Given the description of an element on the screen output the (x, y) to click on. 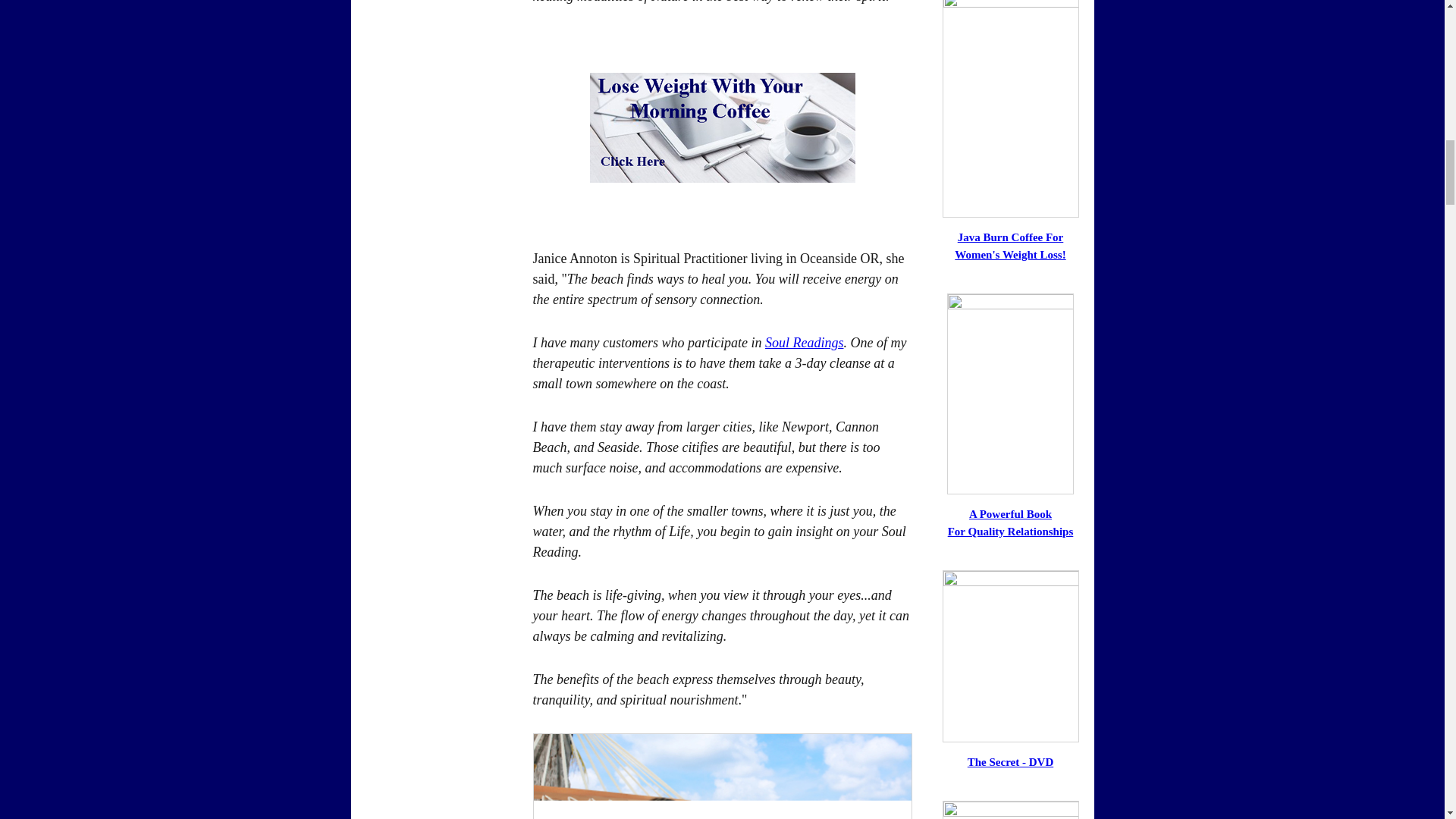
Soul Readings (804, 342)
Total relaxation is another benefit of the beach. (721, 776)
